Given the description of an element on the screen output the (x, y) to click on. 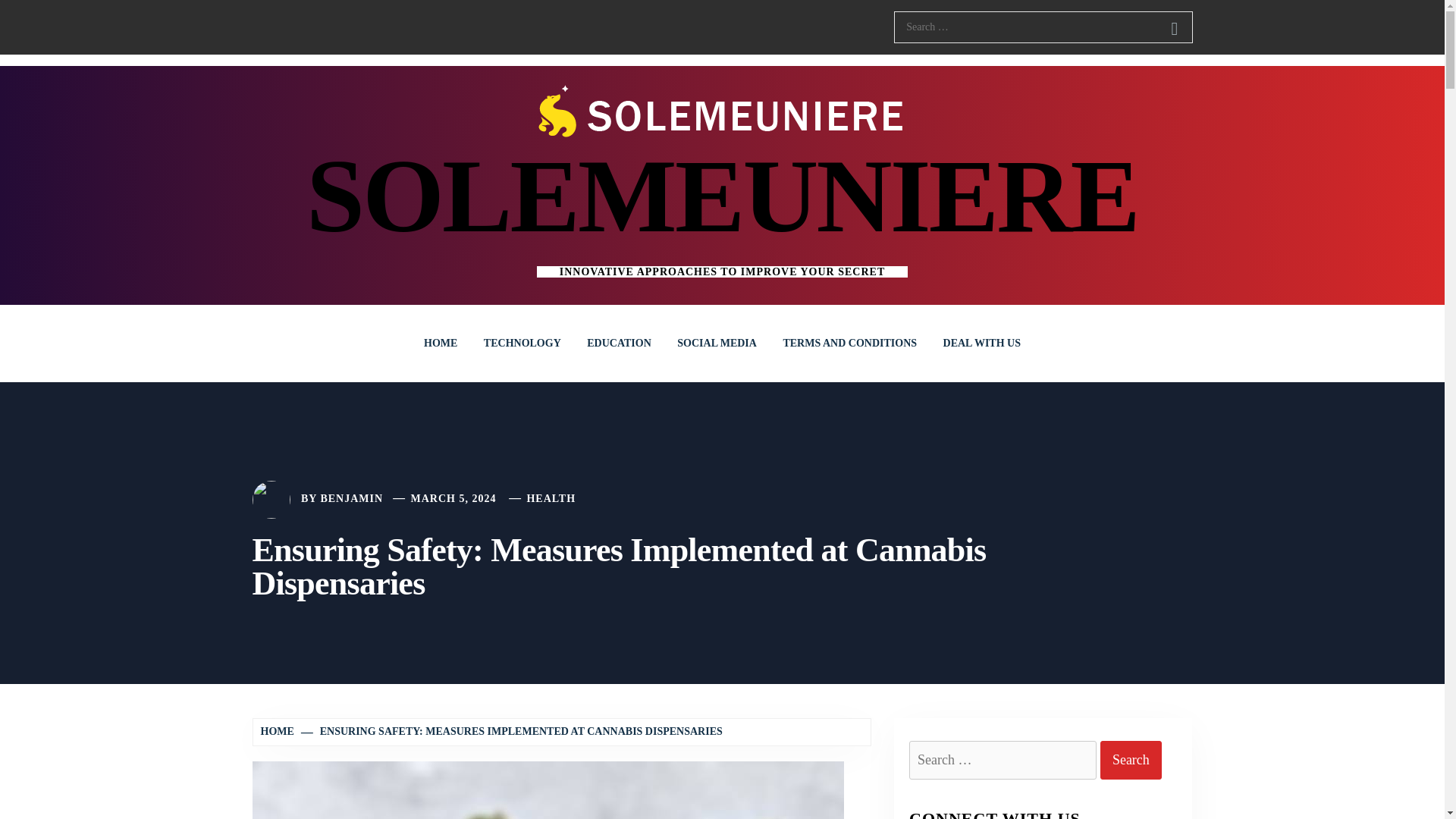
TERMS AND CONDITIONS (849, 343)
EDUCATION (618, 343)
HOME (440, 343)
Search (1130, 760)
MARCH 5, 2024 (453, 498)
Search (1174, 28)
BENJAMIN (351, 498)
SOCIAL MEDIA (716, 343)
TECHNOLOGY (521, 343)
HOME (279, 731)
